Given the description of an element on the screen output the (x, y) to click on. 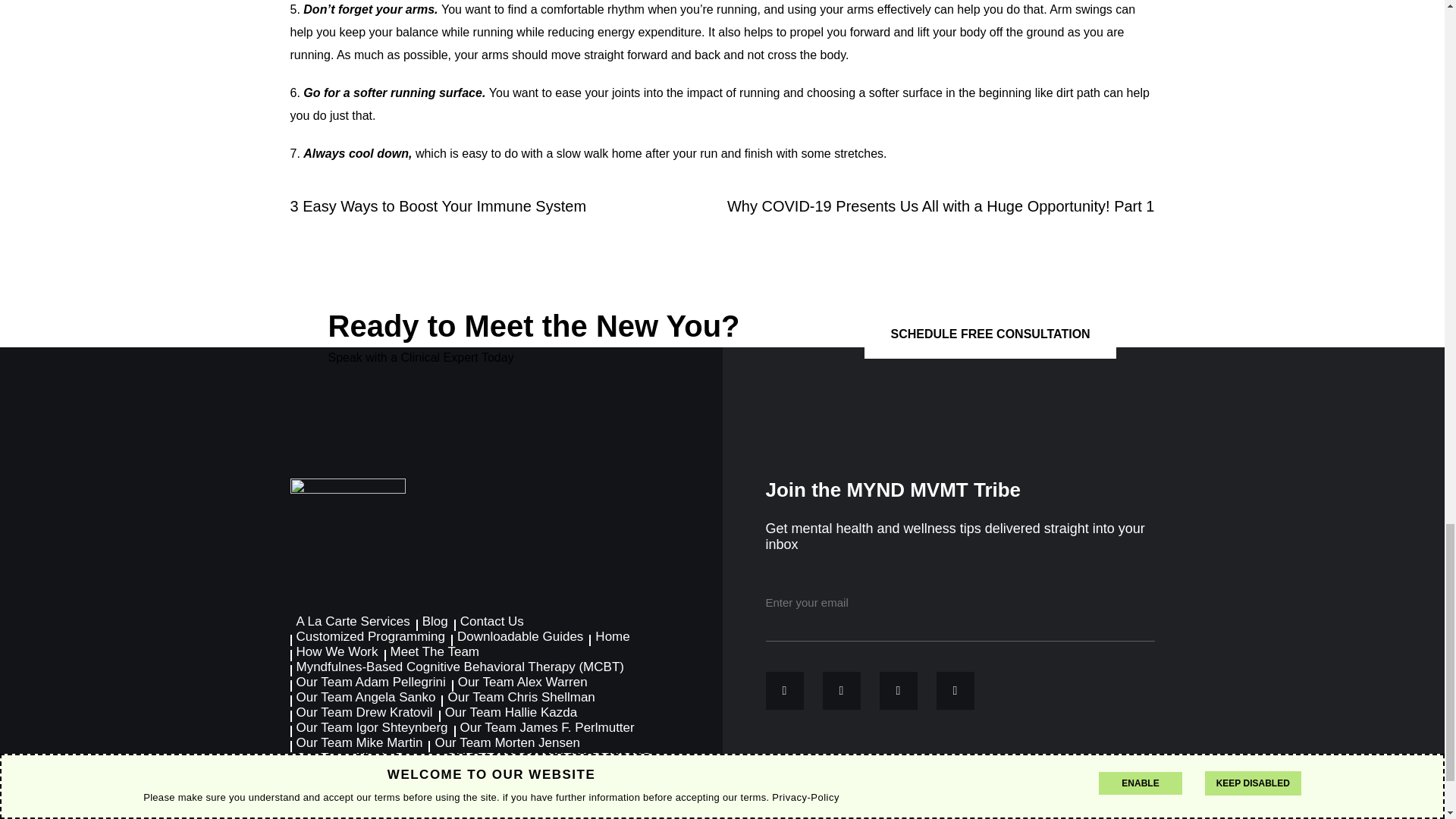
Send (1115, 601)
